Given the description of an element on the screen output the (x, y) to click on. 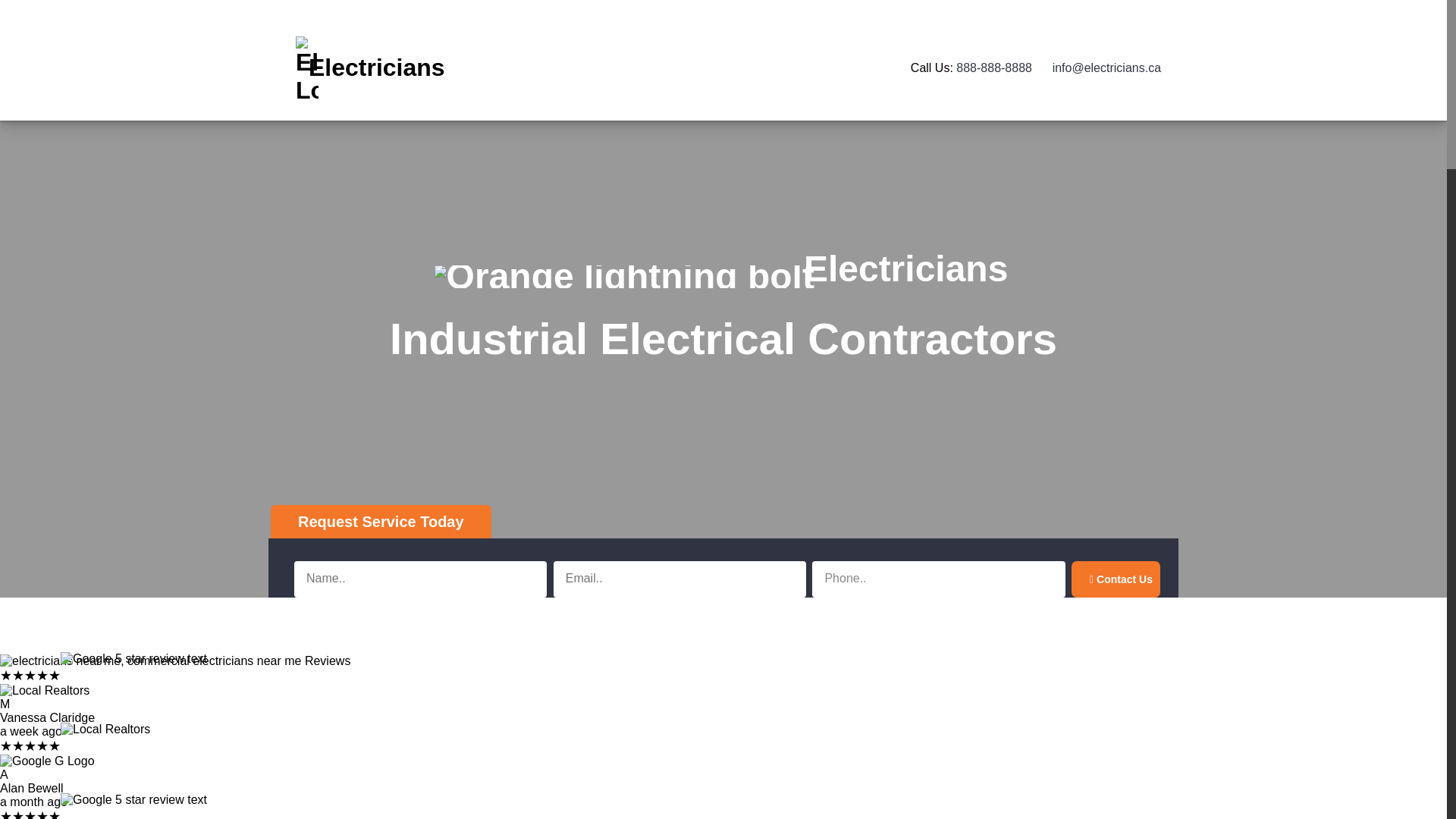
Electricians (365, 67)
Services (673, 52)
About Us (675, 66)
News (665, 80)
 888-888-8888 (992, 67)
Home (667, 39)
Contact (671, 93)
Phone.. (938, 579)
